Given the description of an element on the screen output the (x, y) to click on. 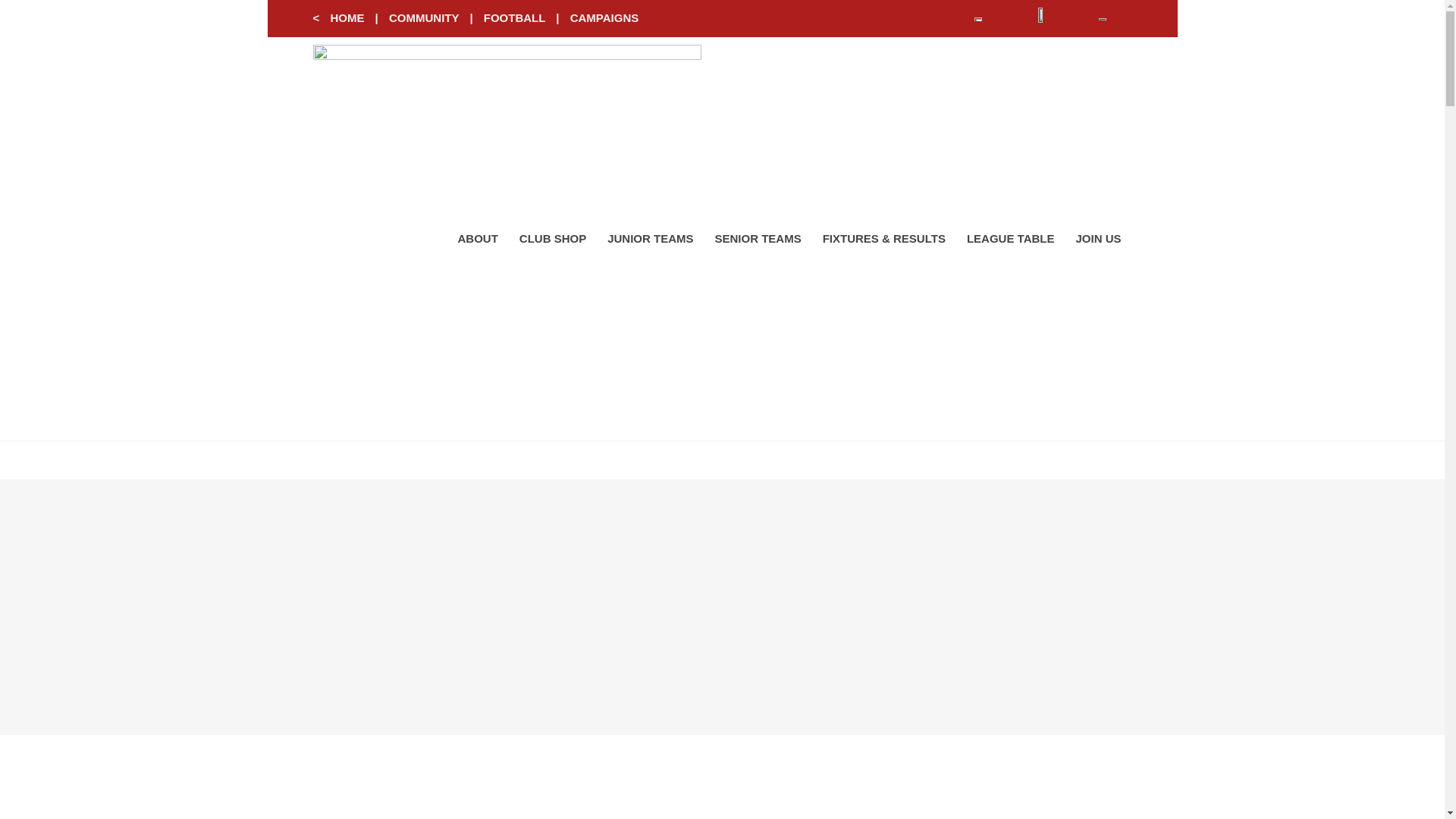
CLUB SHOP (552, 238)
JUNIOR TEAMS (649, 238)
ABOUT (477, 238)
CAMPAIGNS (604, 17)
FOOTBALL (513, 17)
COMMUNITY (423, 17)
HOME (347, 17)
